Given the description of an element on the screen output the (x, y) to click on. 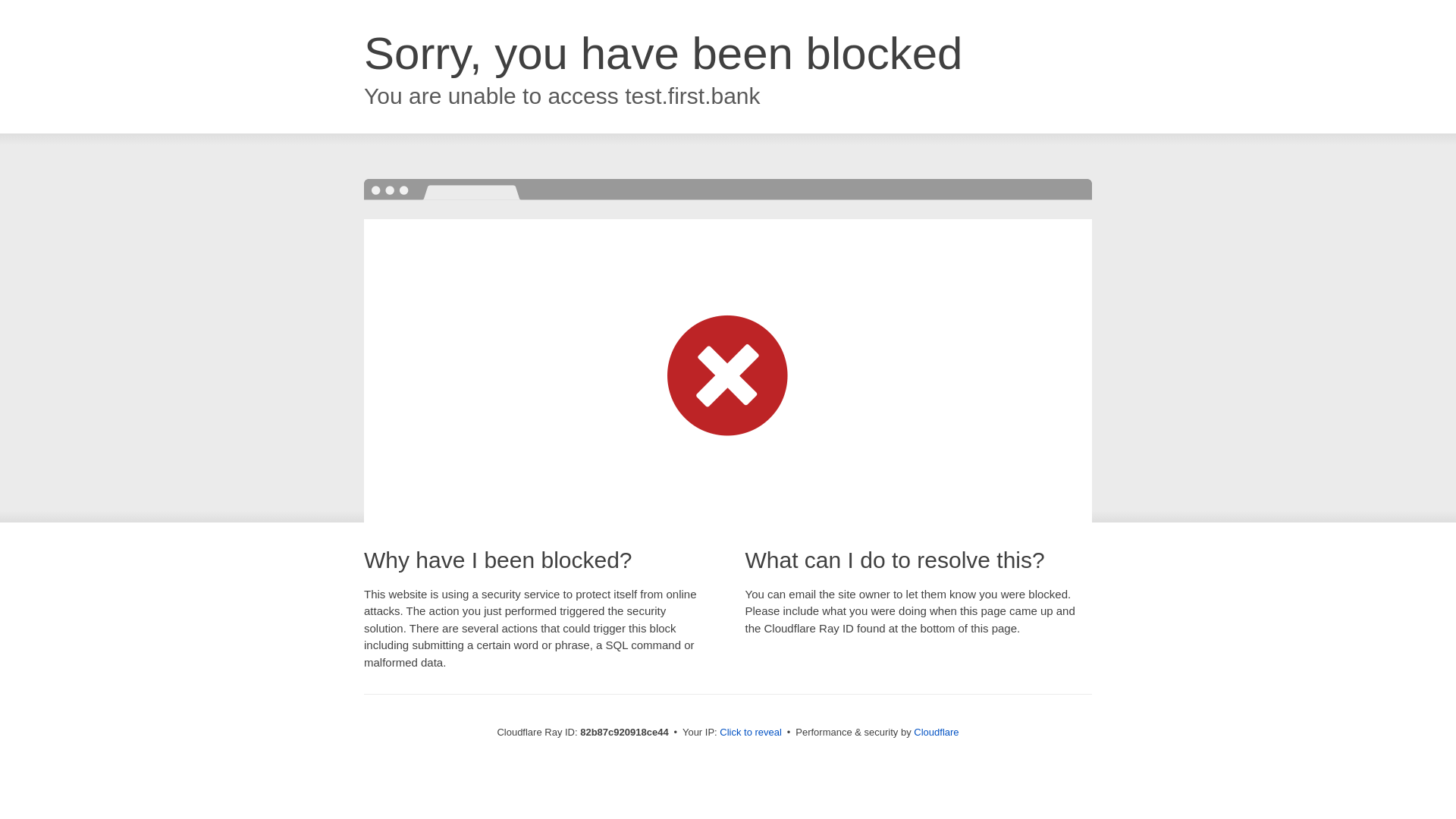
Cloudflare Element type: text (935, 731)
Click to reveal Element type: text (750, 732)
